Given the description of an element on the screen output the (x, y) to click on. 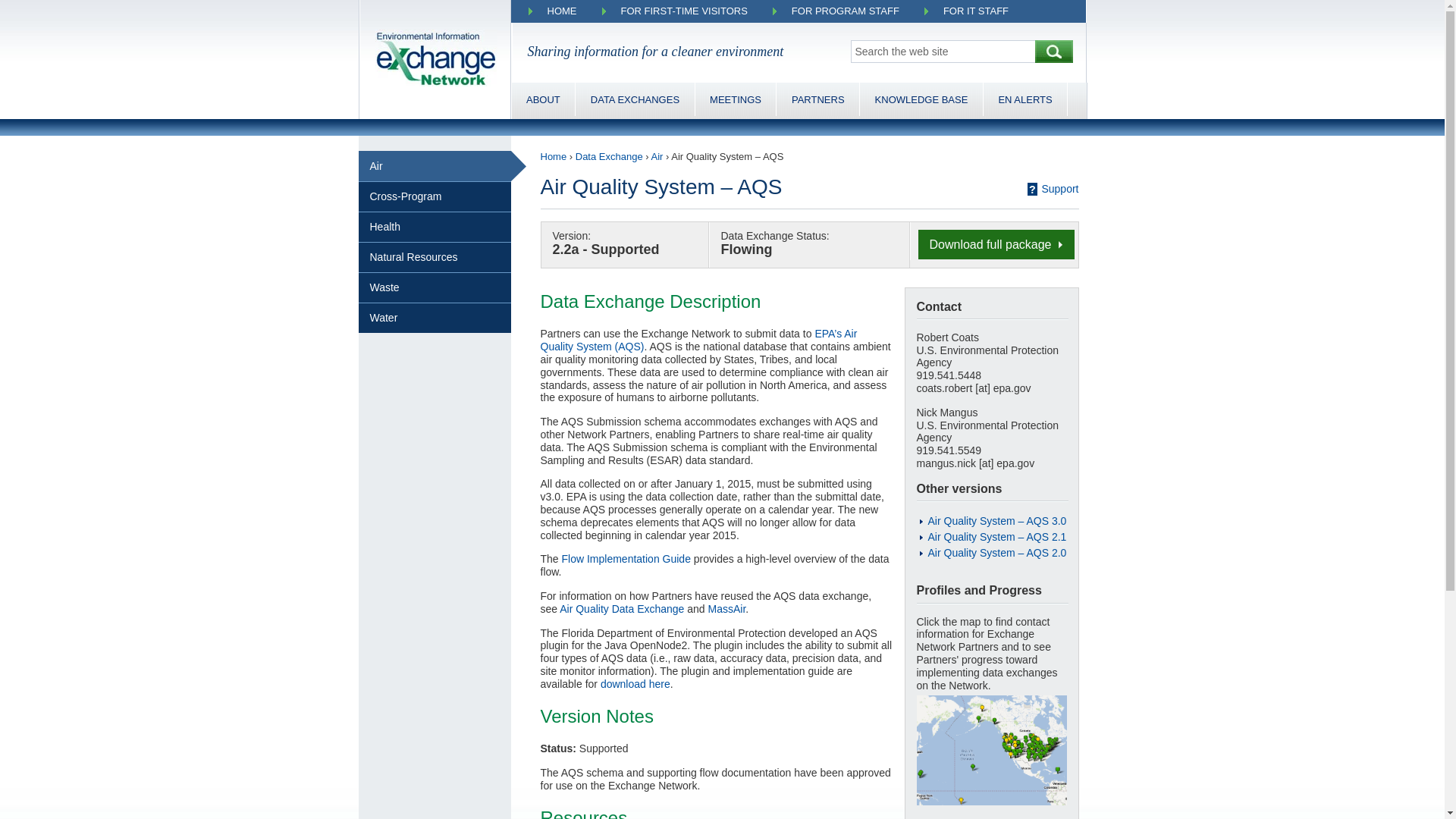
Search (1054, 51)
EN2017 (735, 99)
FOR PROGRAM STAFF (845, 11)
FOR FIRST-TIME VISITORS (683, 11)
Search (1054, 51)
Read all EN Alerts (1025, 99)
ABOUT (543, 99)
HOME (562, 11)
Profiles and Progress (817, 99)
DATA EXCHANGES (634, 99)
Search (1054, 51)
FOR IT STAFF (976, 11)
Search the web site (942, 51)
